Given the description of an element on the screen output the (x, y) to click on. 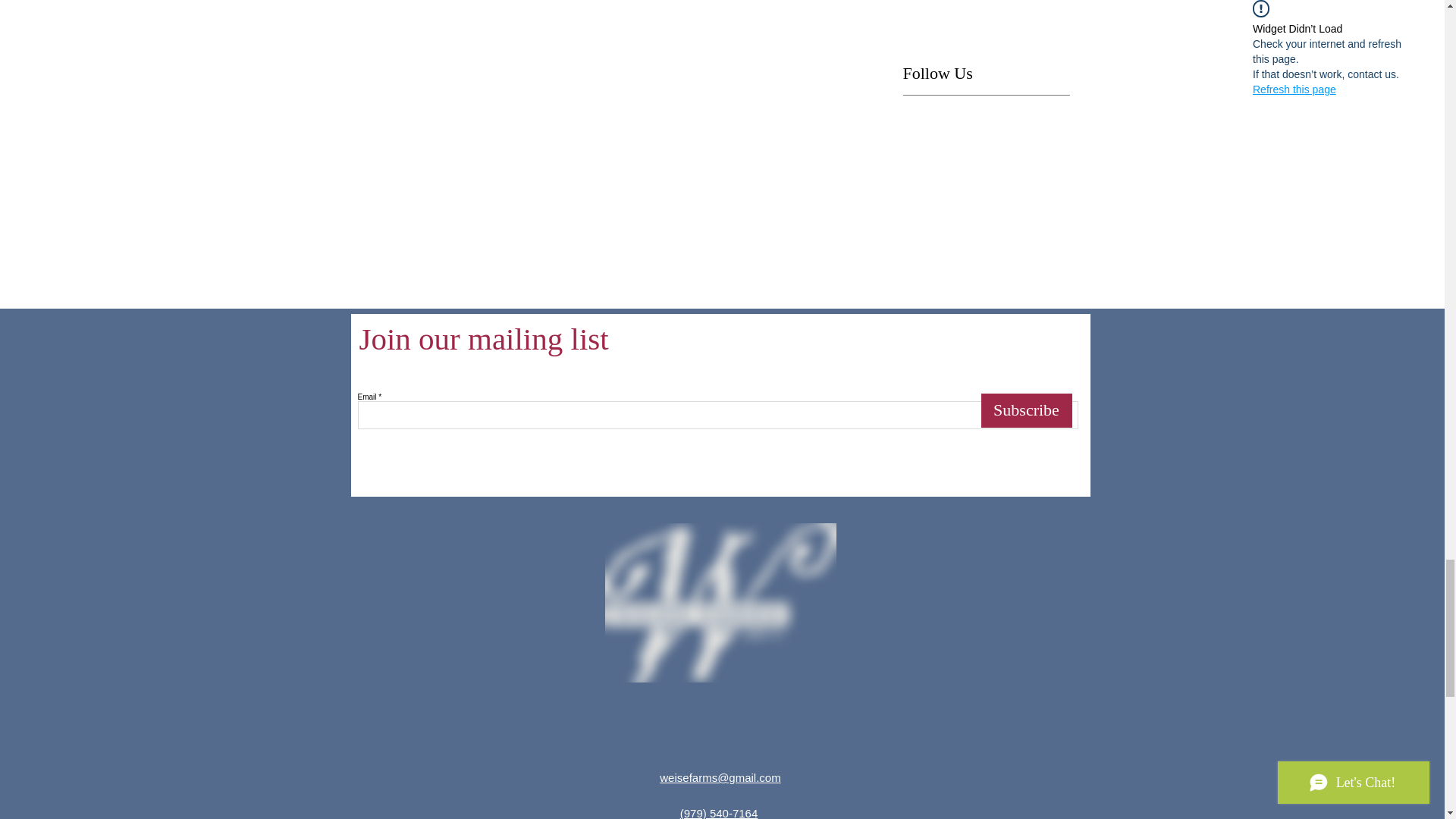
Subscribe (1026, 410)
